Given the description of an element on the screen output the (x, y) to click on. 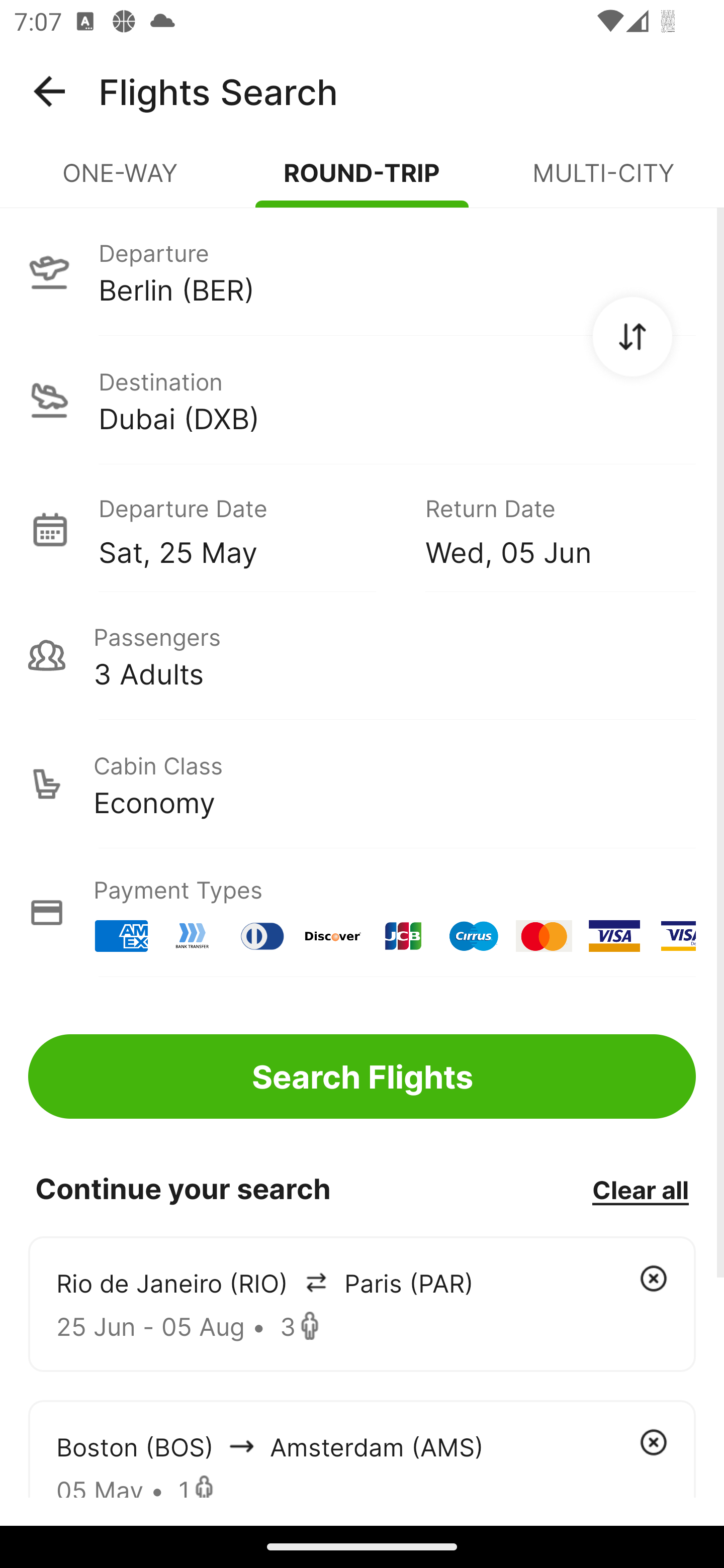
ONE-WAY (120, 180)
ROUND-TRIP (361, 180)
MULTI-CITY (603, 180)
Departure Berlin (BER) (362, 270)
Destination Dubai (DXB) (362, 400)
Departure Date Sat, 25 May (247, 528)
Return Date Wed, 05 Jun (546, 528)
Passengers 3 Adults (362, 655)
Cabin Class Economy (362, 783)
Payment Types (362, 912)
Search Flights (361, 1075)
Clear all (640, 1189)
